Given the description of an element on the screen output the (x, y) to click on. 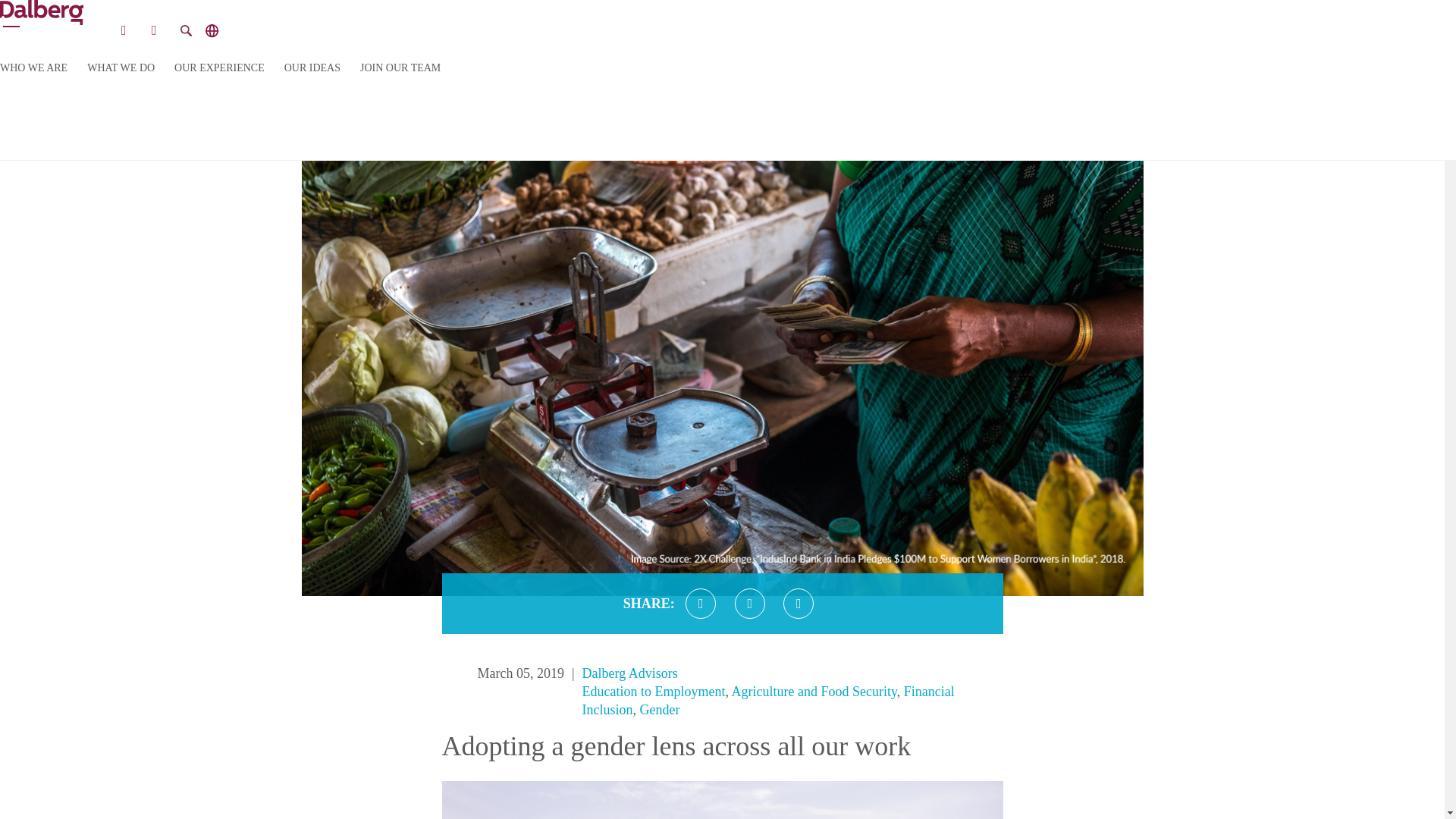
WHO WE ARE (33, 67)
Dalberg Advisors (630, 672)
OUR IDEAS (311, 67)
JOIN OUR TEAM (400, 67)
OUR EXPERIENCE (219, 67)
WHAT WE DO (120, 67)
